Given the description of an element on the screen output the (x, y) to click on. 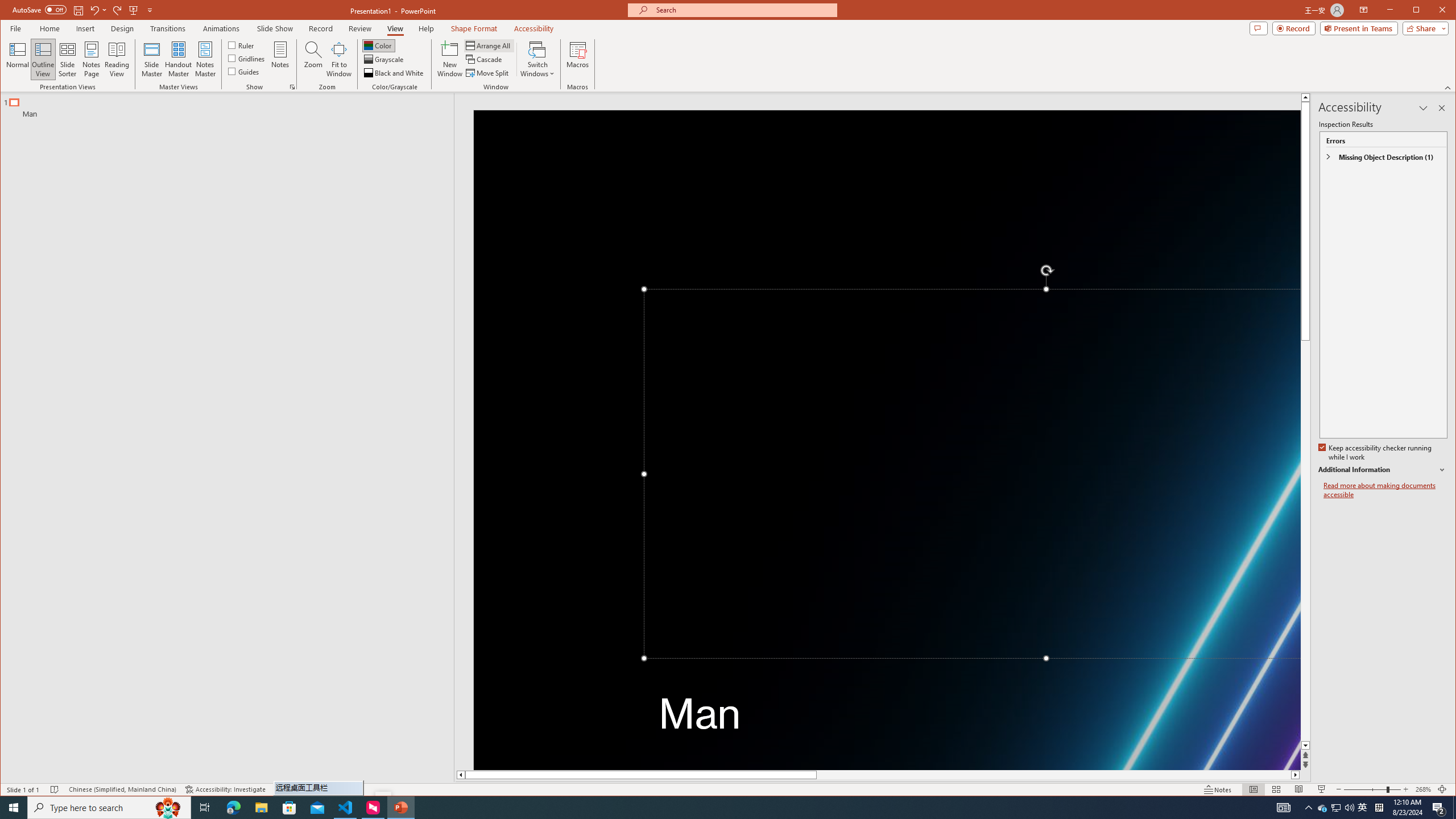
Grid Settings... (292, 86)
Notes Master (204, 59)
Decorative Locked (886, 439)
